Given the description of an element on the screen output the (x, y) to click on. 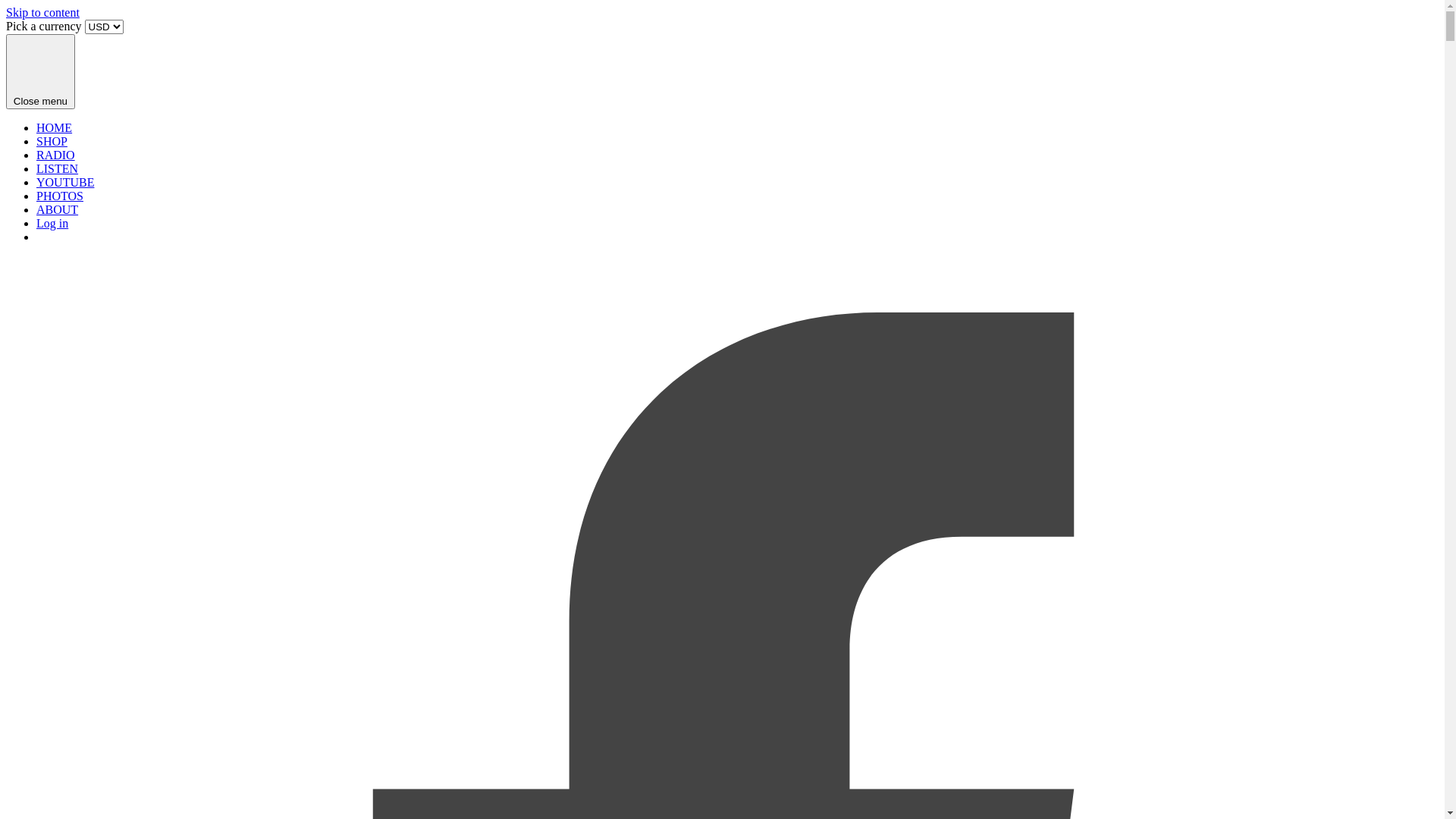
YOUTUBE Element type: text (65, 181)
PHOTOS Element type: text (59, 195)
HOME Element type: text (54, 127)
Skip to content Element type: text (42, 12)
ABOUT Element type: text (57, 209)
SHOP Element type: text (51, 140)
LISTEN Element type: text (57, 168)
RADIO Element type: text (55, 154)
Log in Element type: text (52, 222)
Close menu Element type: text (40, 71)
